Given the description of an element on the screen output the (x, y) to click on. 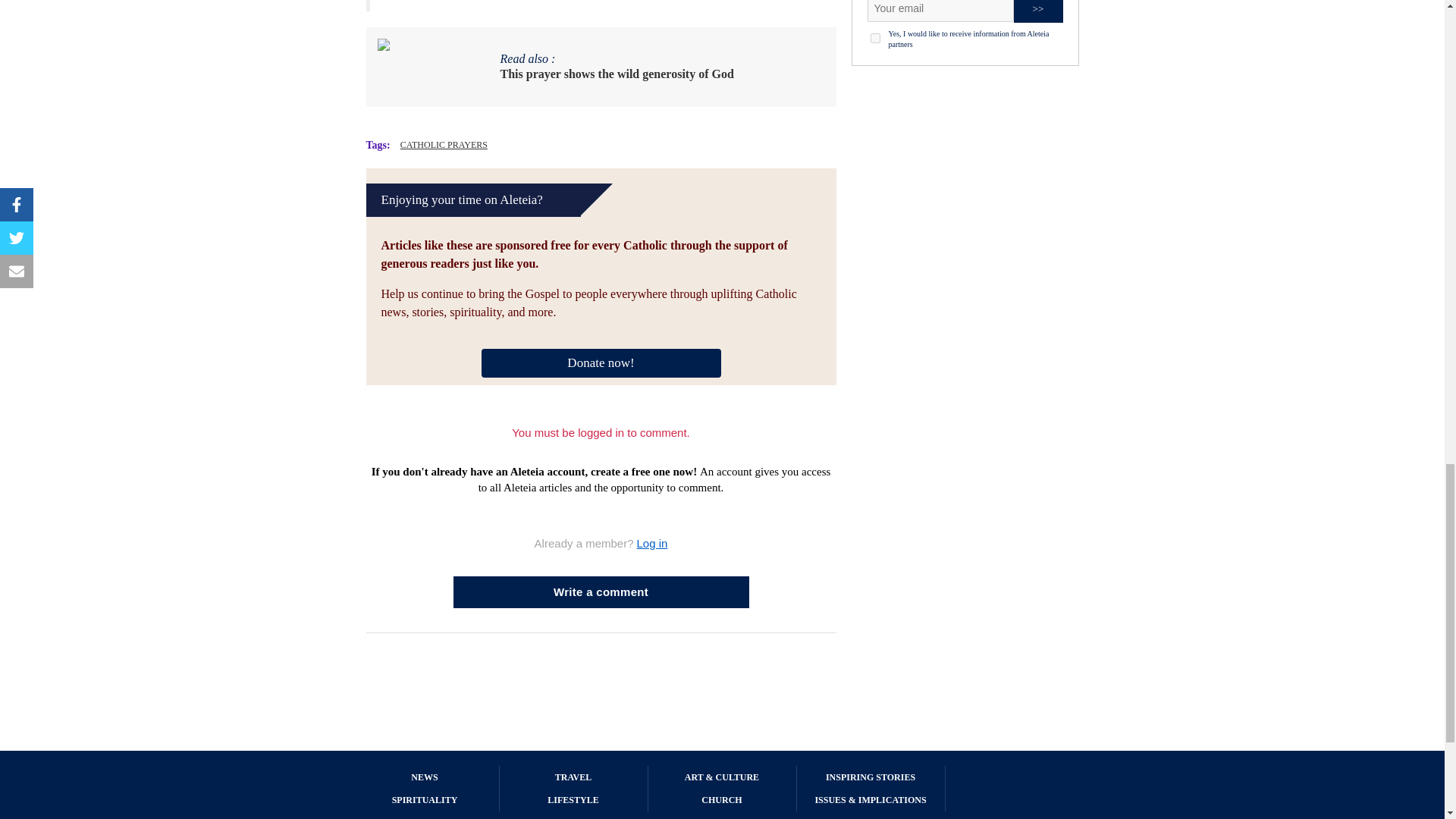
Donate now! (600, 361)
CATHOLIC PRAYERS (444, 144)
This prayer shows the wild generosity of God (616, 73)
1 (875, 38)
